Given the description of an element on the screen output the (x, y) to click on. 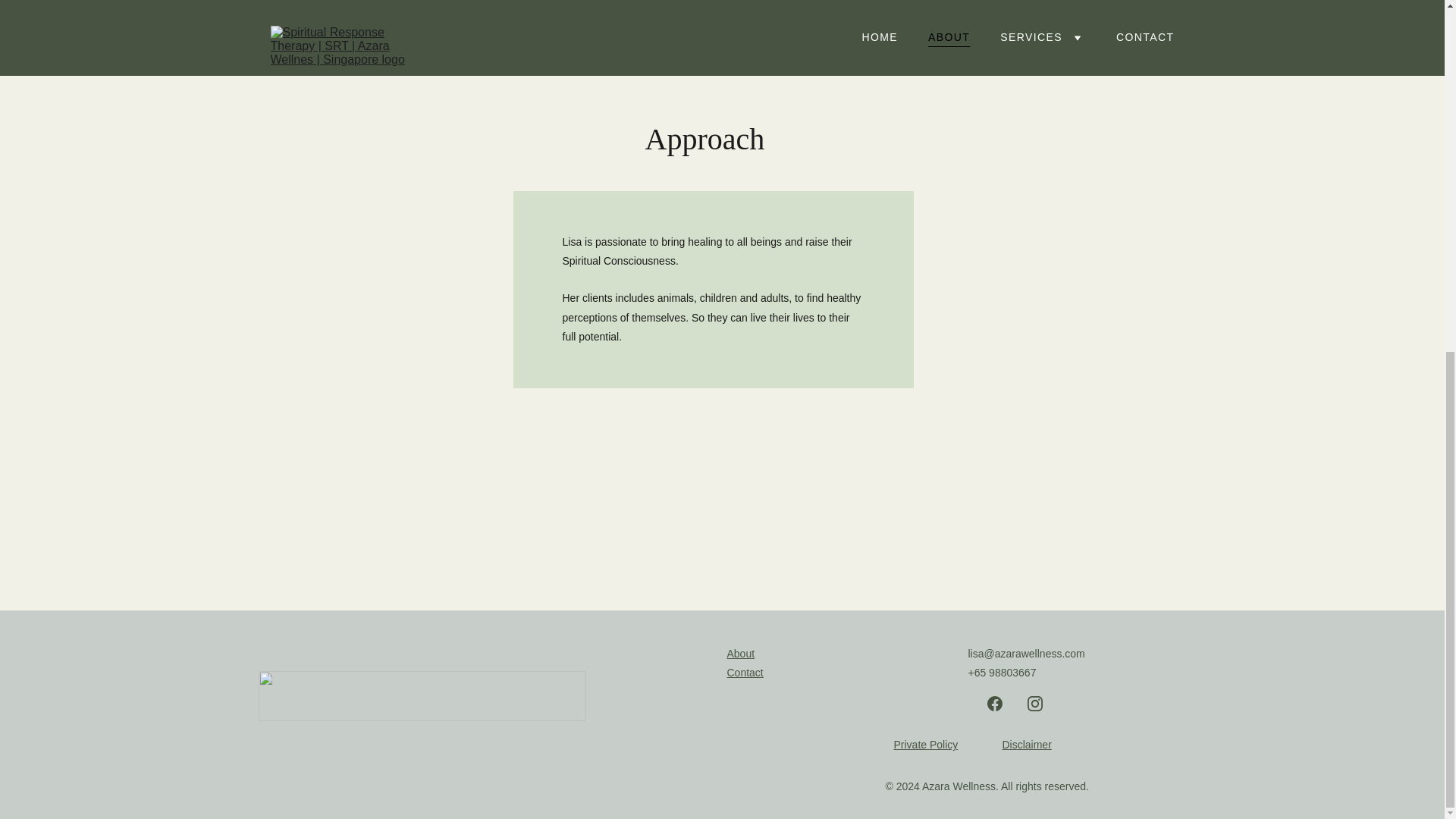
Contact (744, 672)
Go to Facebook page (995, 703)
Disclaimer (1026, 744)
Go to Instagram page (1034, 703)
Private Policy (925, 744)
About (740, 653)
